Given the description of an element on the screen output the (x, y) to click on. 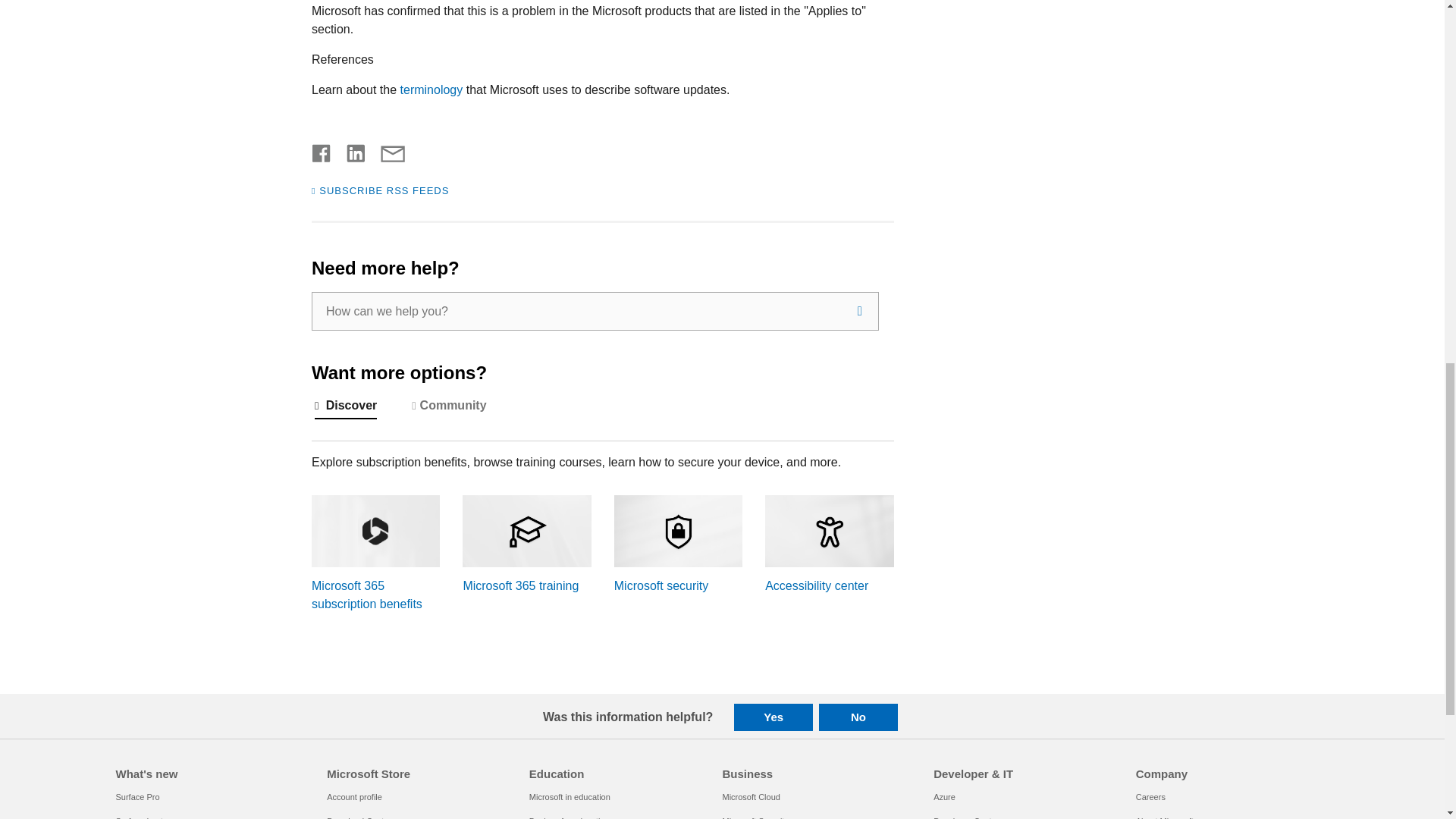
Share on LinkedIn (349, 151)
Share by email (385, 151)
Search (860, 310)
Share on Facebook (322, 151)
